Given the description of an element on the screen output the (x, y) to click on. 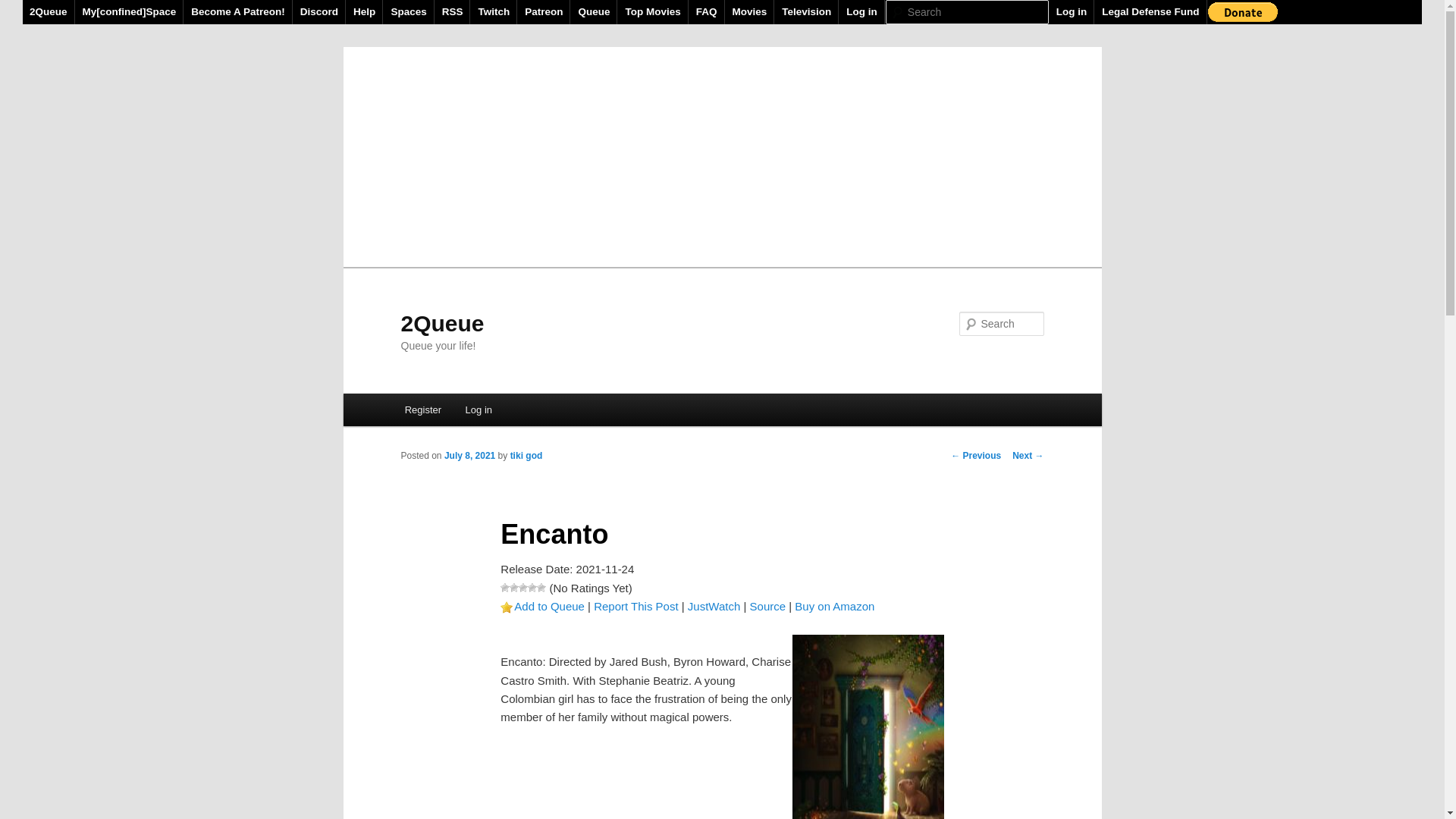
2Queue Element type: text (48, 12)
PayPal - The safer, easier way to pay online! Element type: hover (1242, 11)
Log in Element type: text (478, 409)
Favorite Element type: hover (506, 607)
Log in Element type: text (1072, 12)
RSS Element type: text (452, 12)
2 Stars Element type: hover (513, 587)
Top Movies Element type: text (652, 12)
Report This Post Element type: text (635, 605)
2Queue Element type: text (441, 322)
Log in Element type: text (861, 12)
4 Stars Element type: hover (531, 587)
JustWatch Element type: text (713, 605)
Become A Patreon! Element type: text (238, 12)
1 Star Element type: hover (504, 587)
tiki god Element type: text (526, 455)
Skip to primary content Element type: text (472, 412)
Buy on Amazon Element type: text (834, 605)
3 Stars Element type: hover (522, 587)
Spaces Element type: text (408, 12)
Help Element type: text (364, 12)
My[confined]Space Element type: text (129, 12)
5 Stars Element type: hover (541, 587)
Patreon Element type: text (543, 12)
Skip to secondary content Element type: text (479, 412)
Add to Queue Element type: text (549, 605)
Legal Defense Fund Element type: text (1150, 12)
Twitch Element type: text (493, 12)
Search Element type: text (24, 8)
Register Element type: text (422, 409)
Discord Element type: text (319, 12)
Advertisement Element type: hover (721, 153)
Television Element type: text (806, 12)
Queue Element type: text (594, 12)
Movies Element type: text (749, 12)
FAQ Element type: text (706, 12)
July 8, 2021 Element type: text (469, 455)
Source Element type: text (767, 605)
